Given the description of an element on the screen output the (x, y) to click on. 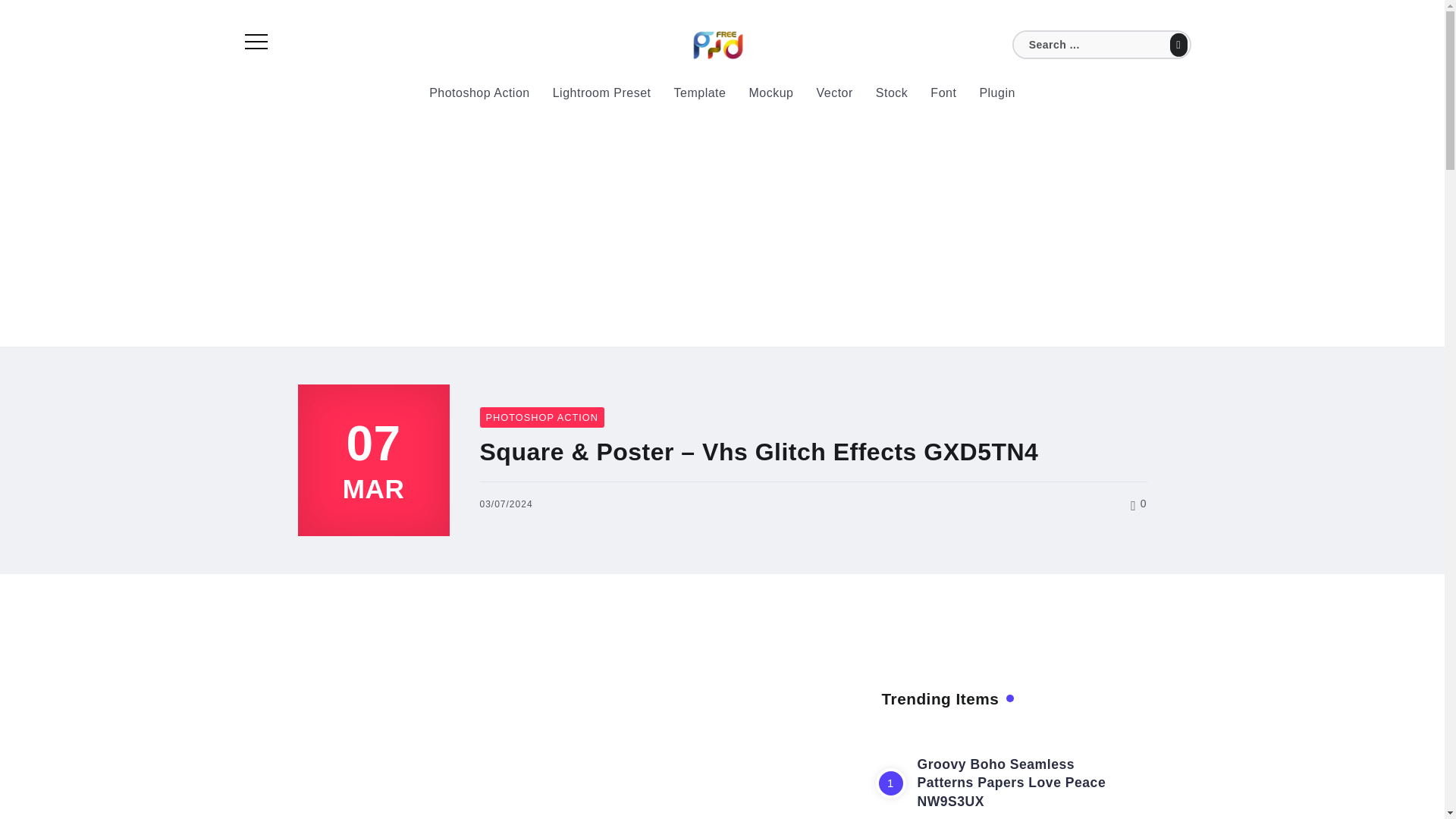
Photoshop Action (541, 417)
Stock (891, 92)
Template (700, 92)
Font (943, 92)
Groovy Boho Seamless Patterns Papers Love Peace NW9S3UX (1011, 782)
Photoshop Action (479, 92)
0 (1139, 503)
Vector (834, 92)
Groovy Boho Seamless Patterns Papers Love Peace NW9S3UX (1011, 782)
Plugin (996, 92)
